Given the description of an element on the screen output the (x, y) to click on. 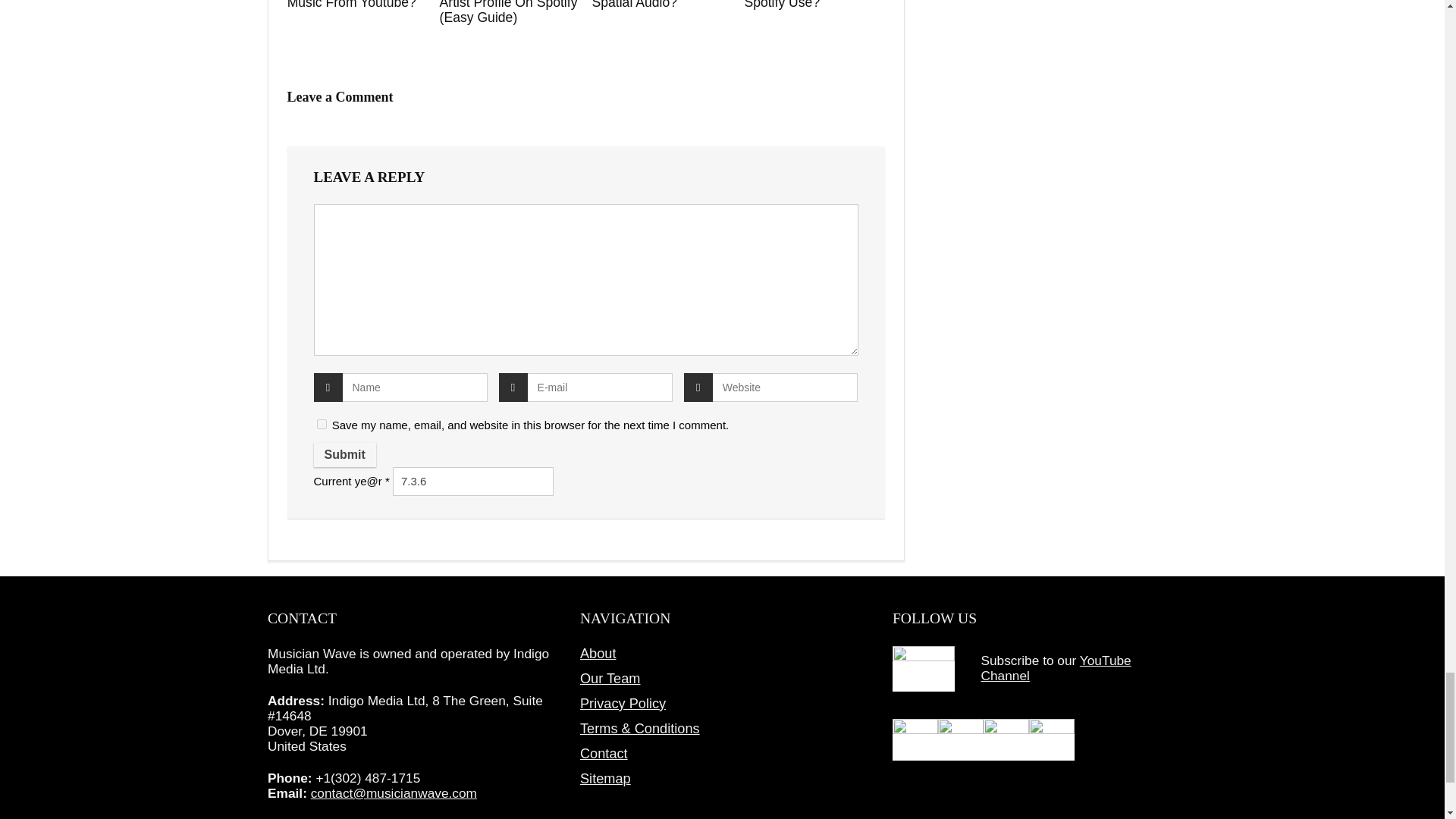
yes (321, 424)
Submit (344, 454)
7.3.6 (473, 481)
